Given the description of an element on the screen output the (x, y) to click on. 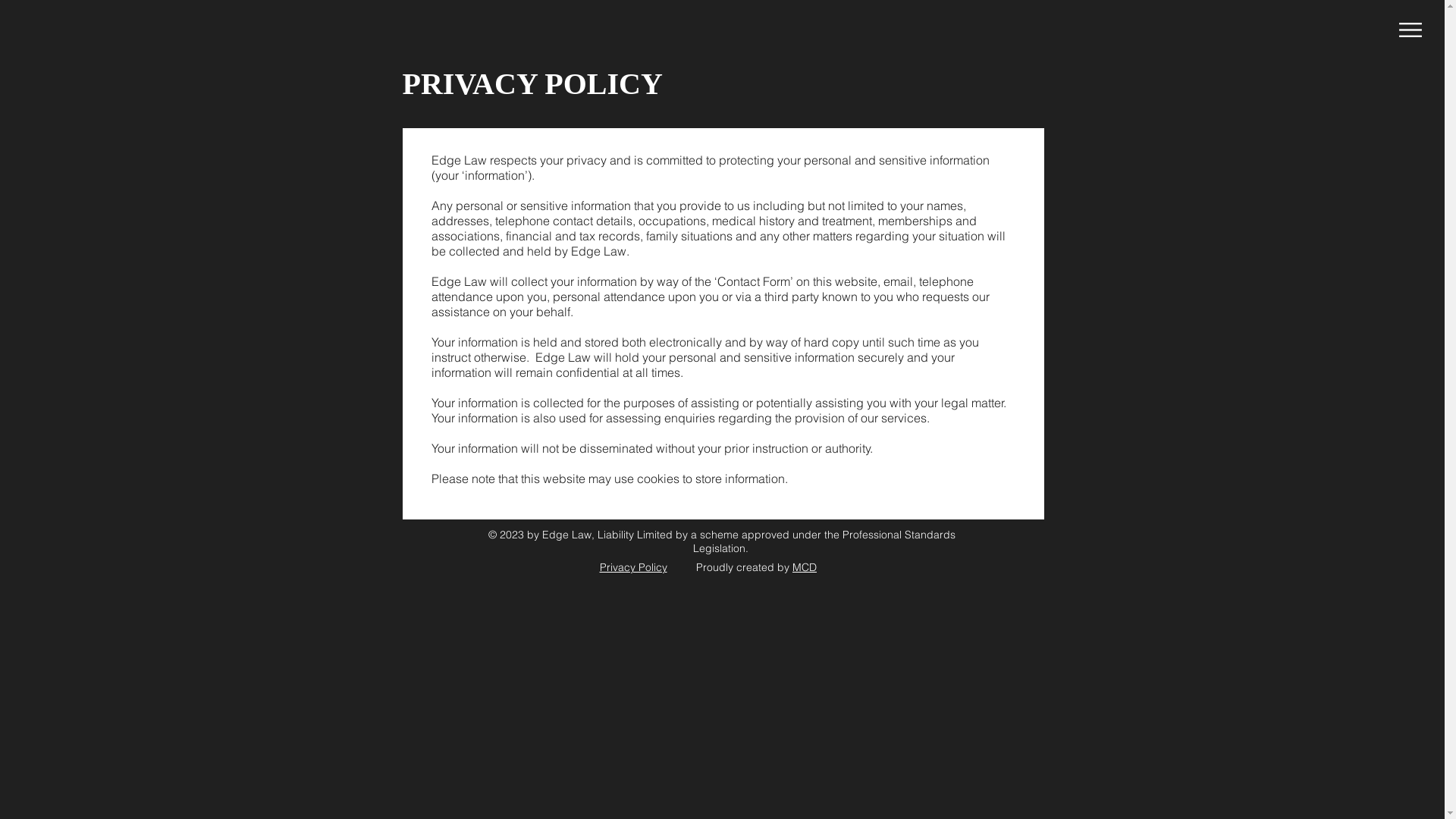
Privacy Policy Element type: text (632, 567)
MCD Element type: text (804, 567)
